Given the description of an element on the screen output the (x, y) to click on. 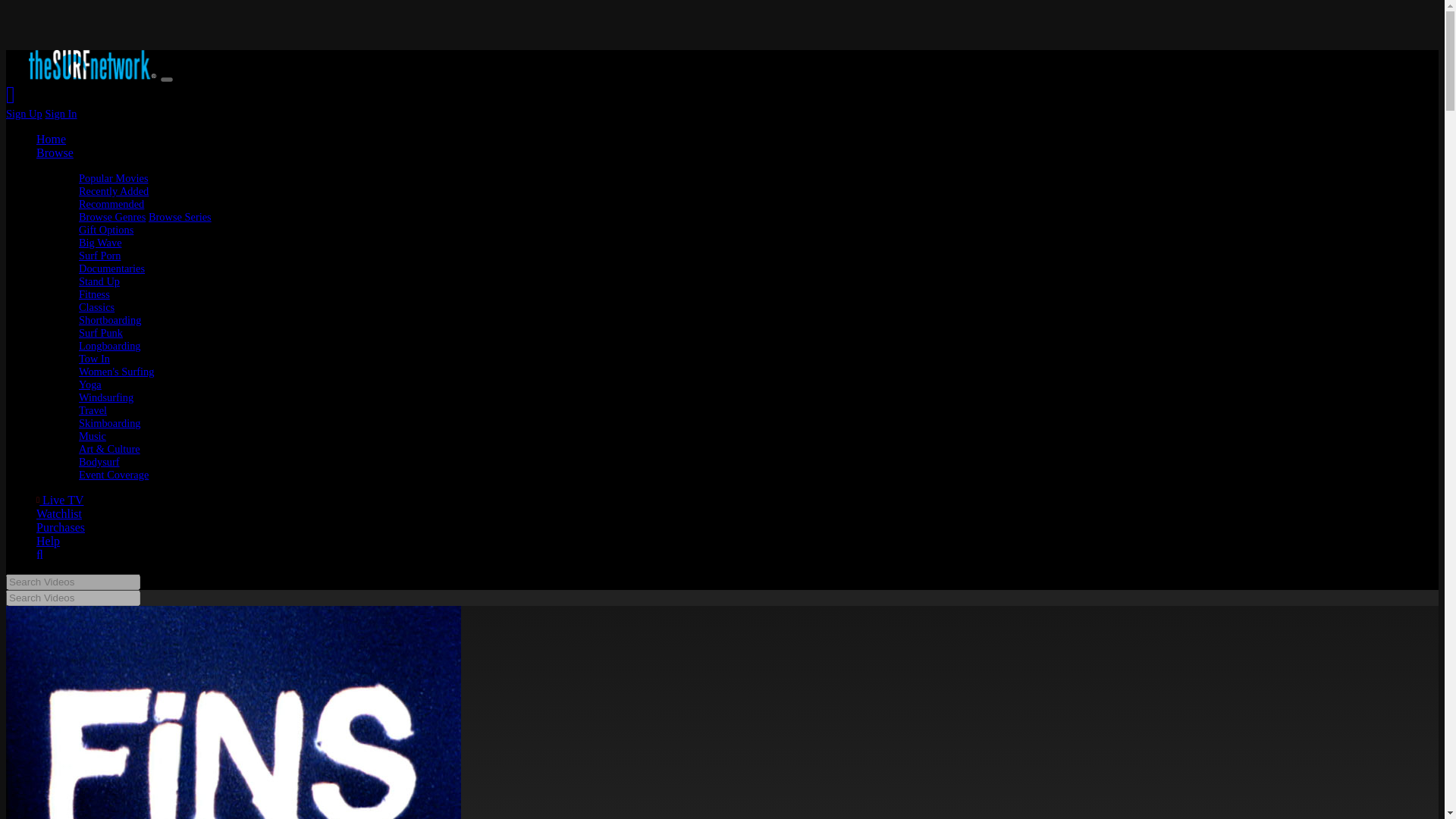
Big Wave (100, 242)
Gift Options (105, 229)
Popular Movies (113, 177)
Browse (55, 152)
Event Coverage (113, 474)
Browse Genres (111, 216)
Music (92, 435)
Browse Series (179, 216)
Tow In (94, 358)
Bodysurf (98, 461)
Stand Up (98, 281)
Fitness (94, 294)
Help (47, 540)
Sign In (61, 113)
Travel (92, 410)
